Given the description of an element on the screen output the (x, y) to click on. 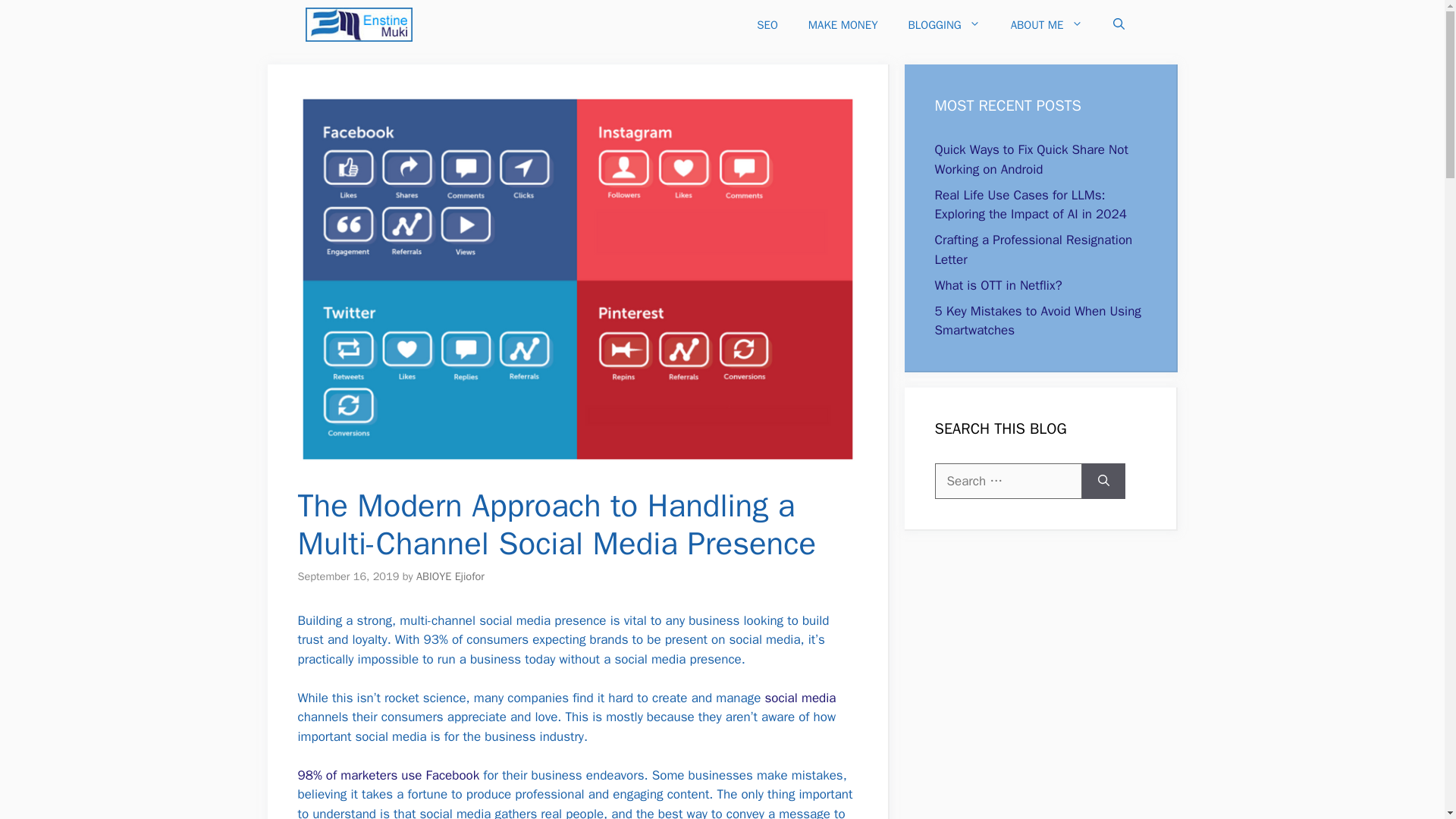
View all posts by ABIOYE Ejiofor (450, 576)
social media (799, 697)
Search for: (1007, 480)
Crafting a Professional Resignation Letter (1033, 249)
Business with blogging! (358, 24)
Quick Ways to Fix Quick Share Not Working on Android (1030, 159)
MAKE MONEY (843, 23)
5 Key Mistakes to Avoid When Using Smartwatches (1037, 321)
ABOUT ME (1046, 23)
BLOGGING (944, 23)
